Given the description of an element on the screen output the (x, y) to click on. 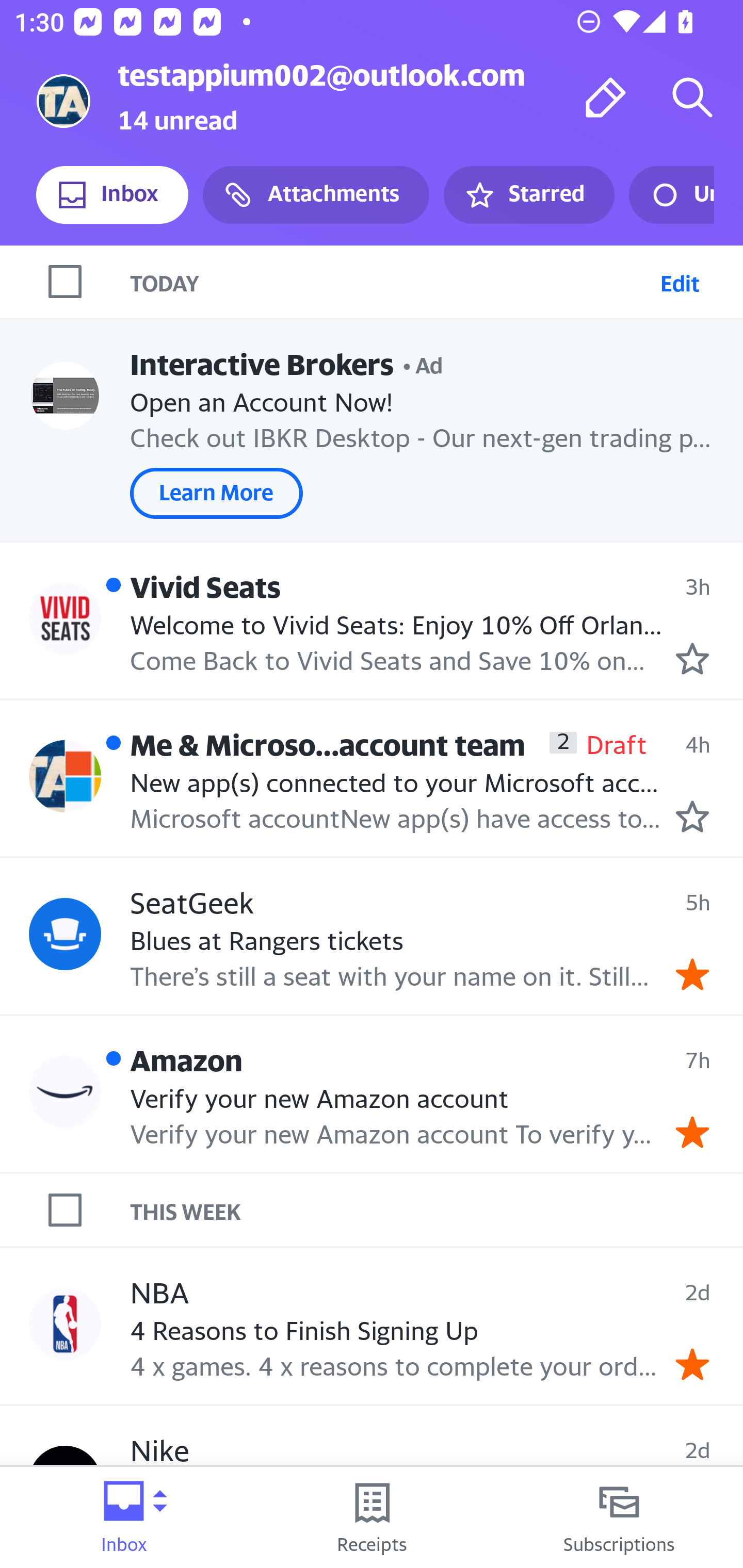
Compose (605, 97)
Search mail (692, 97)
Attachments (315, 195)
Starred (528, 195)
TODAY (391, 281)
Edit Select emails (679, 281)
Profile
Vivid Seats (64, 617)
Mark as starred. (692, 659)
Profile
Me & Microsoft account team (64, 776)
Mark as starred. (692, 816)
Profile
SeatGeek (64, 934)
Remove star. (692, 974)
Profile
Amazon (64, 1091)
Remove star. (692, 1132)
THIS WEEK (436, 1209)
Profile
NBA (64, 1323)
Remove star. (692, 1364)
Inbox Folder picker (123, 1517)
Receipts (371, 1517)
Subscriptions (619, 1517)
